Given the description of an element on the screen output the (x, y) to click on. 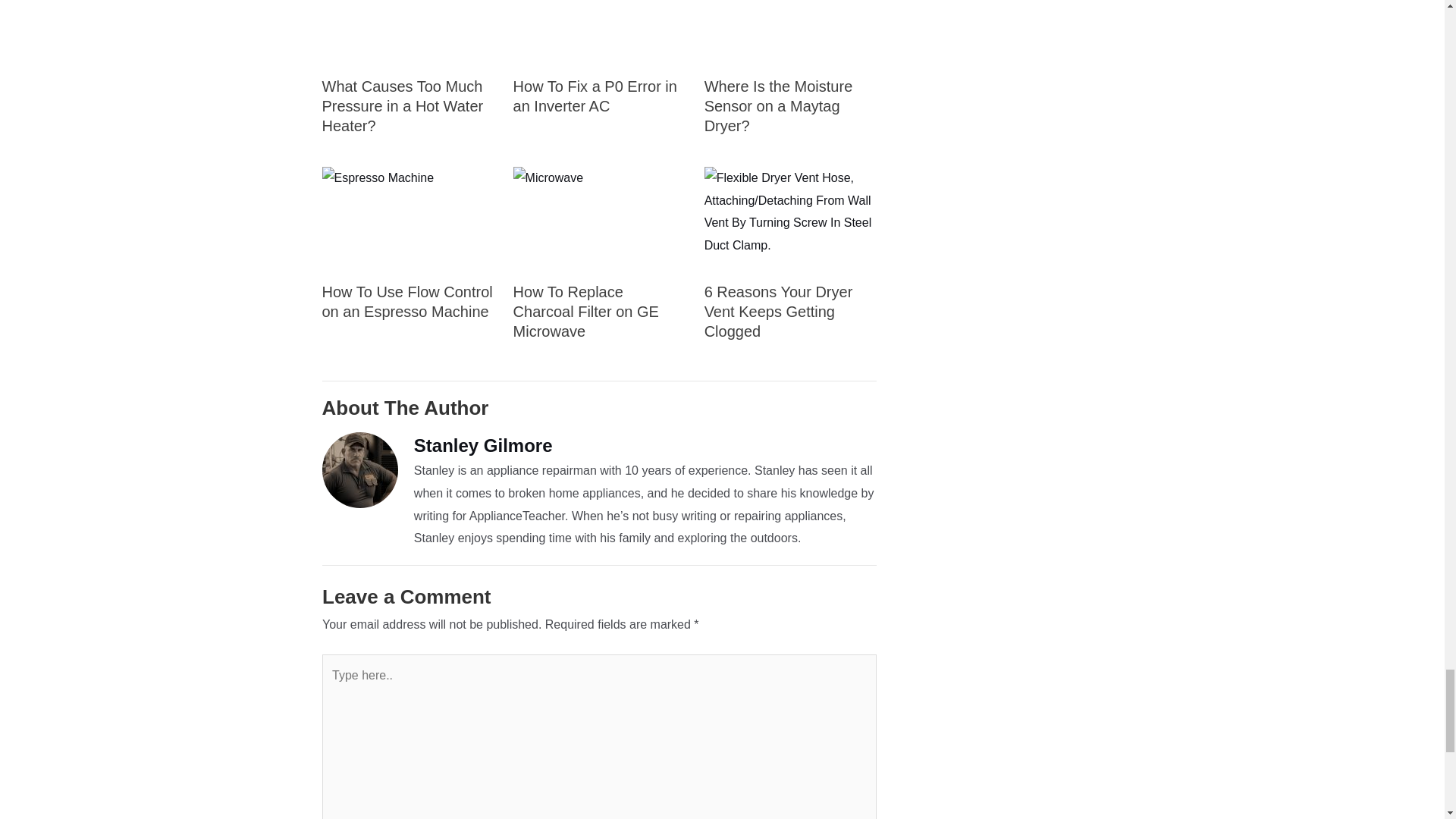
6 Reasons Your Dryer Vent Keeps Getting Clogged 6 (790, 218)
How To Replace Charcoal Filter On Ge Microwave 5 (599, 218)
What Causes Too Much Pressure In A Hot Water Heater? 1 (407, 32)
How To Use Flow Control On An Espresso Machine 4 (407, 218)
How To Fix A P0 Error In An Inverter Ac 2 (599, 32)
Where Is The Moisture Sensor On A Maytag Dryer? 3 (790, 32)
